Given the description of an element on the screen output the (x, y) to click on. 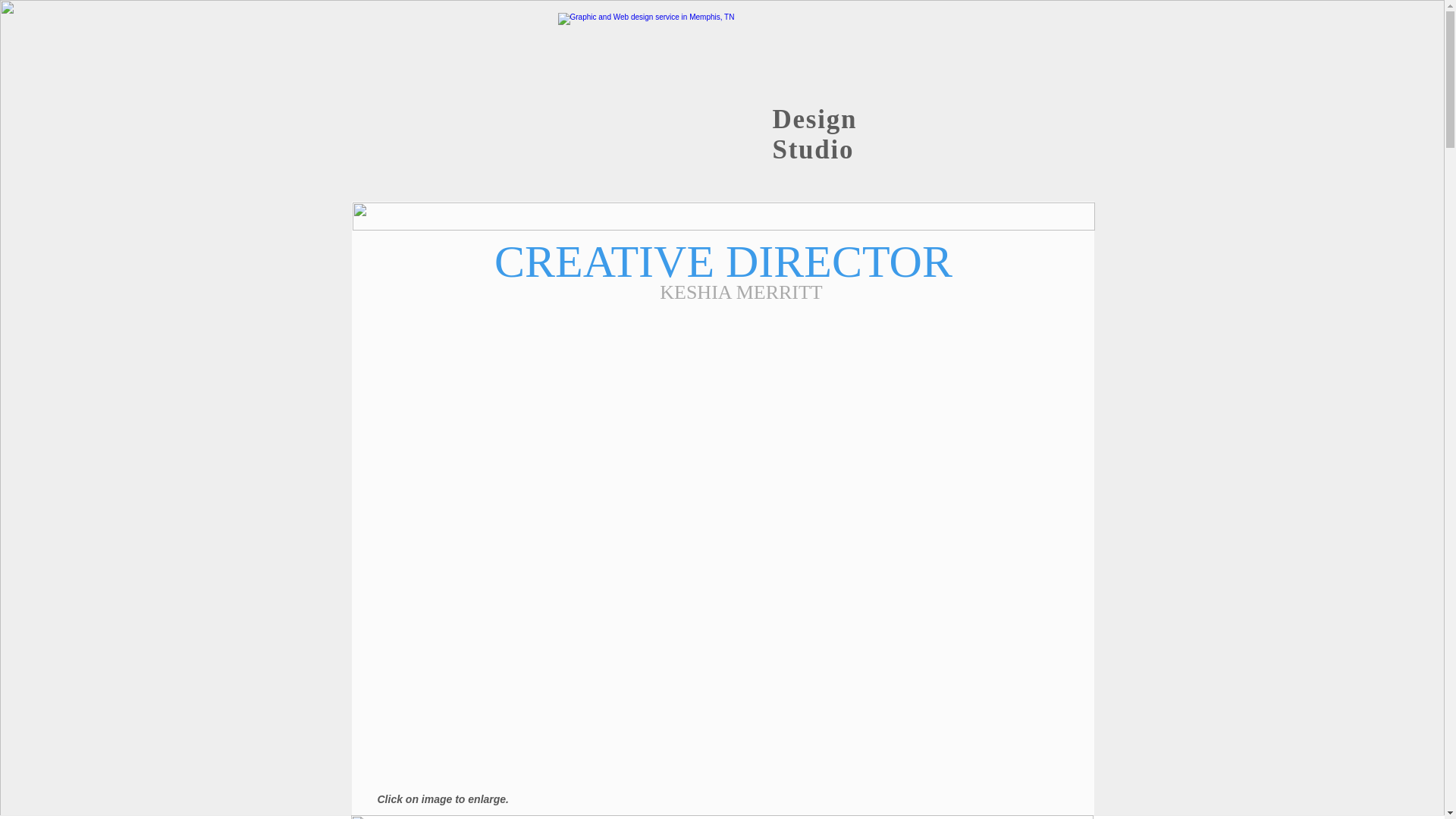
2Sense Design Studio Element type: hover (722, 82)
